Given the description of an element on the screen output the (x, y) to click on. 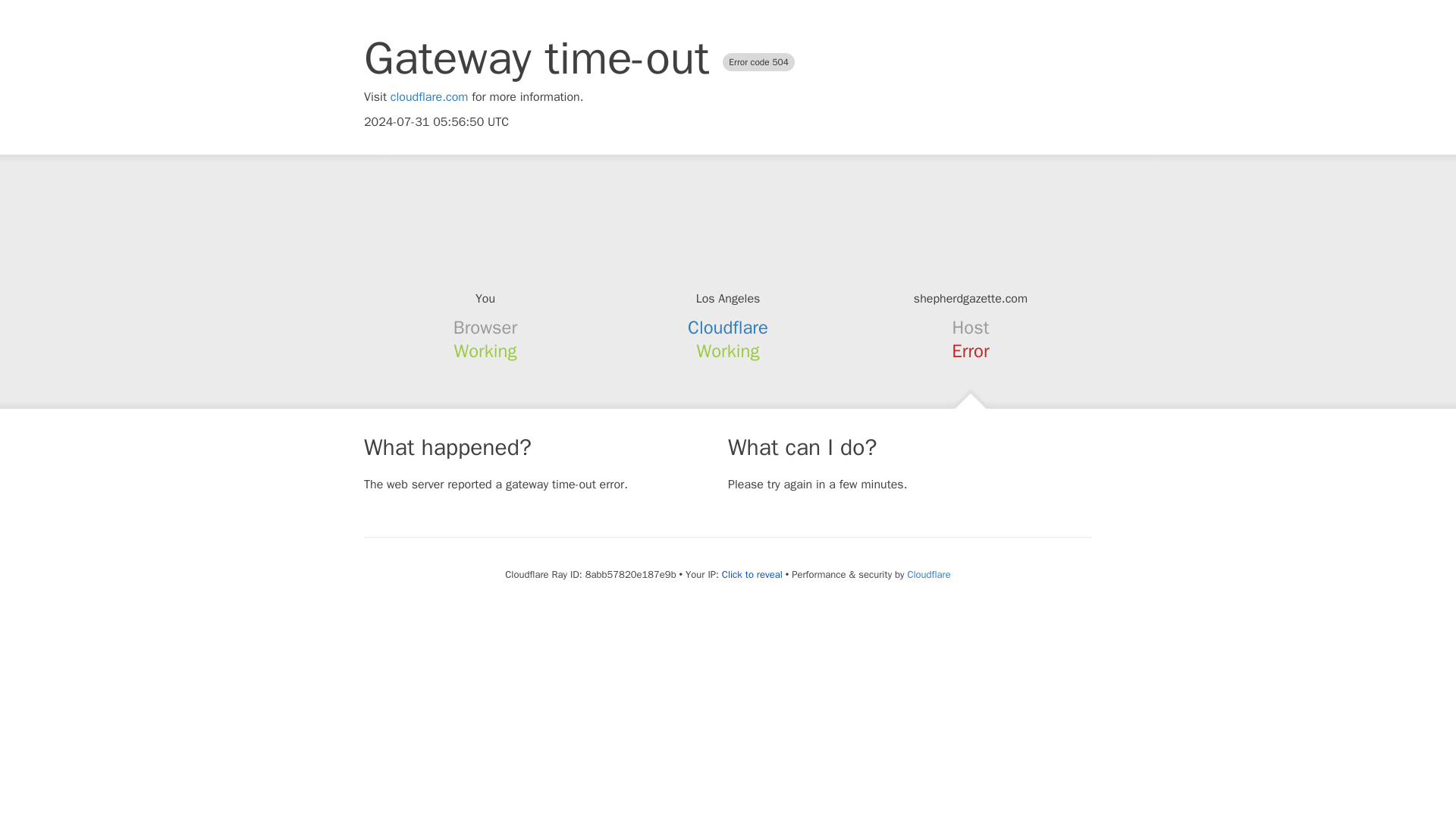
cloudflare.com (429, 96)
Cloudflare (928, 574)
Cloudflare (727, 327)
Click to reveal (752, 574)
